Given the description of an element on the screen output the (x, y) to click on. 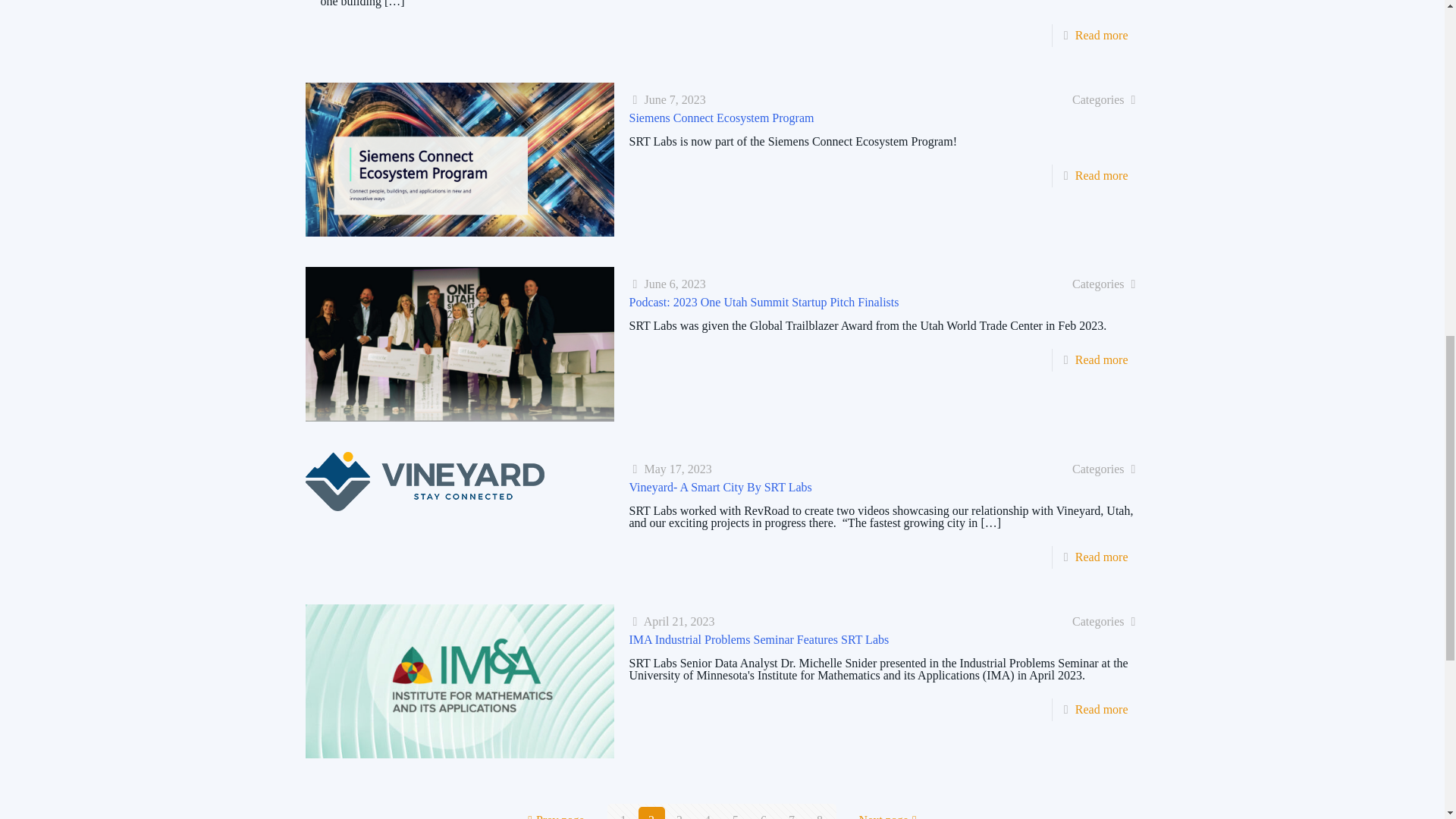
Read more (1101, 34)
Read more (1101, 174)
Siemens Connect Ecosystem Program (720, 117)
